Given the description of an element on the screen output the (x, y) to click on. 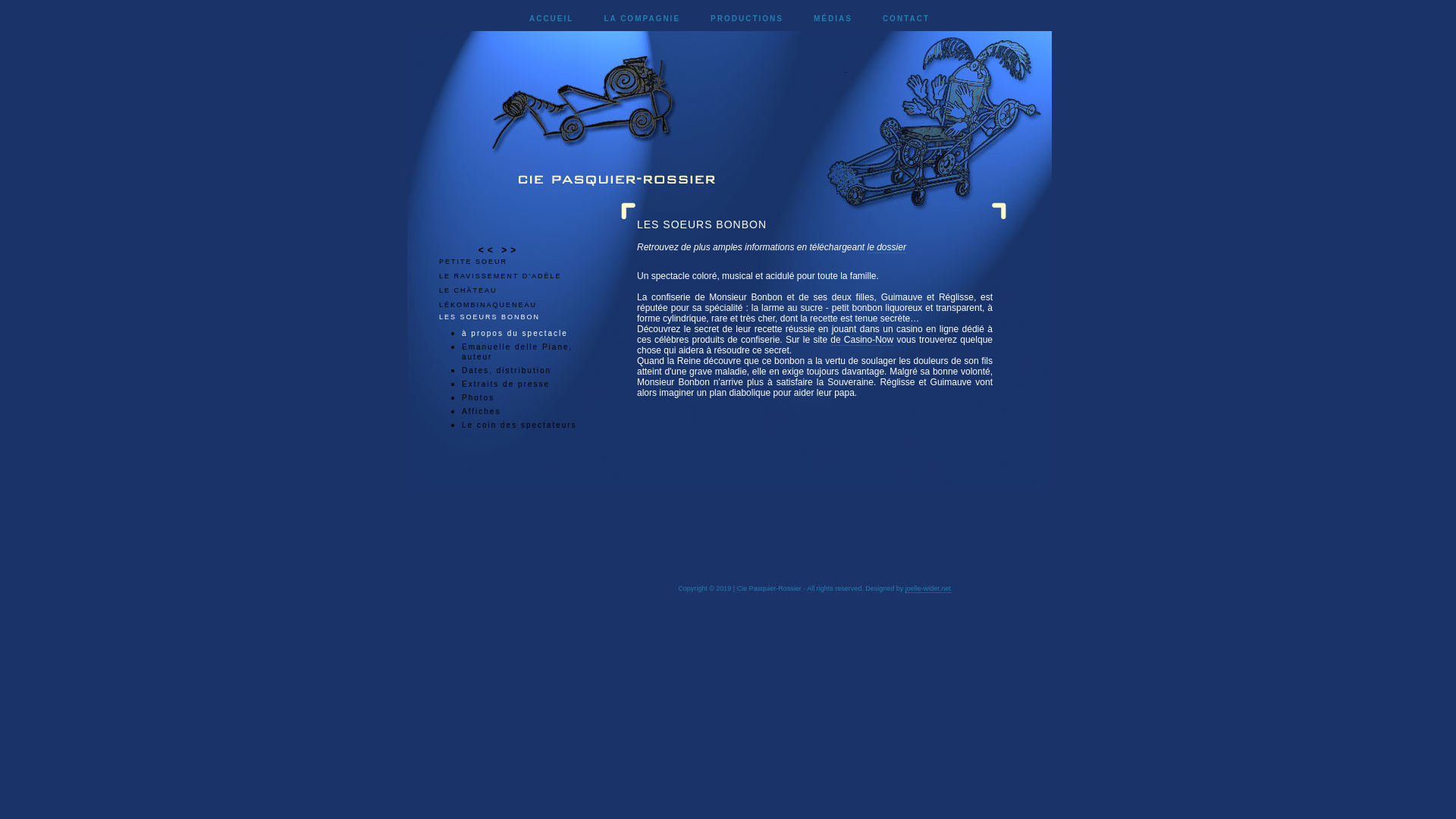
Le coin des spectateurs Element type: text (519, 426)
CONTACT Element type: text (905, 18)
Affiches Element type: text (480, 413)
le dossier Element type: text (886, 247)
PRODUCTIONS Element type: text (746, 18)
de Casino-Now Element type: text (861, 339)
Extraits de presse Element type: text (505, 385)
<< Element type: text (487, 249)
LA COMPAGNIE Element type: text (641, 18)
ACCUEIL Element type: text (551, 18)
Dates, distribution Element type: text (506, 372)
PETITE SOEUR Element type: text (473, 261)
>> Element type: text (510, 249)
Photos Element type: text (477, 399)
LES SOEURS BONBON Element type: text (489, 316)
joelle-wider.net Element type: text (927, 588)
Emanuelle delle Piane, auteur Element type: text (516, 353)
